Given the description of an element on the screen output the (x, y) to click on. 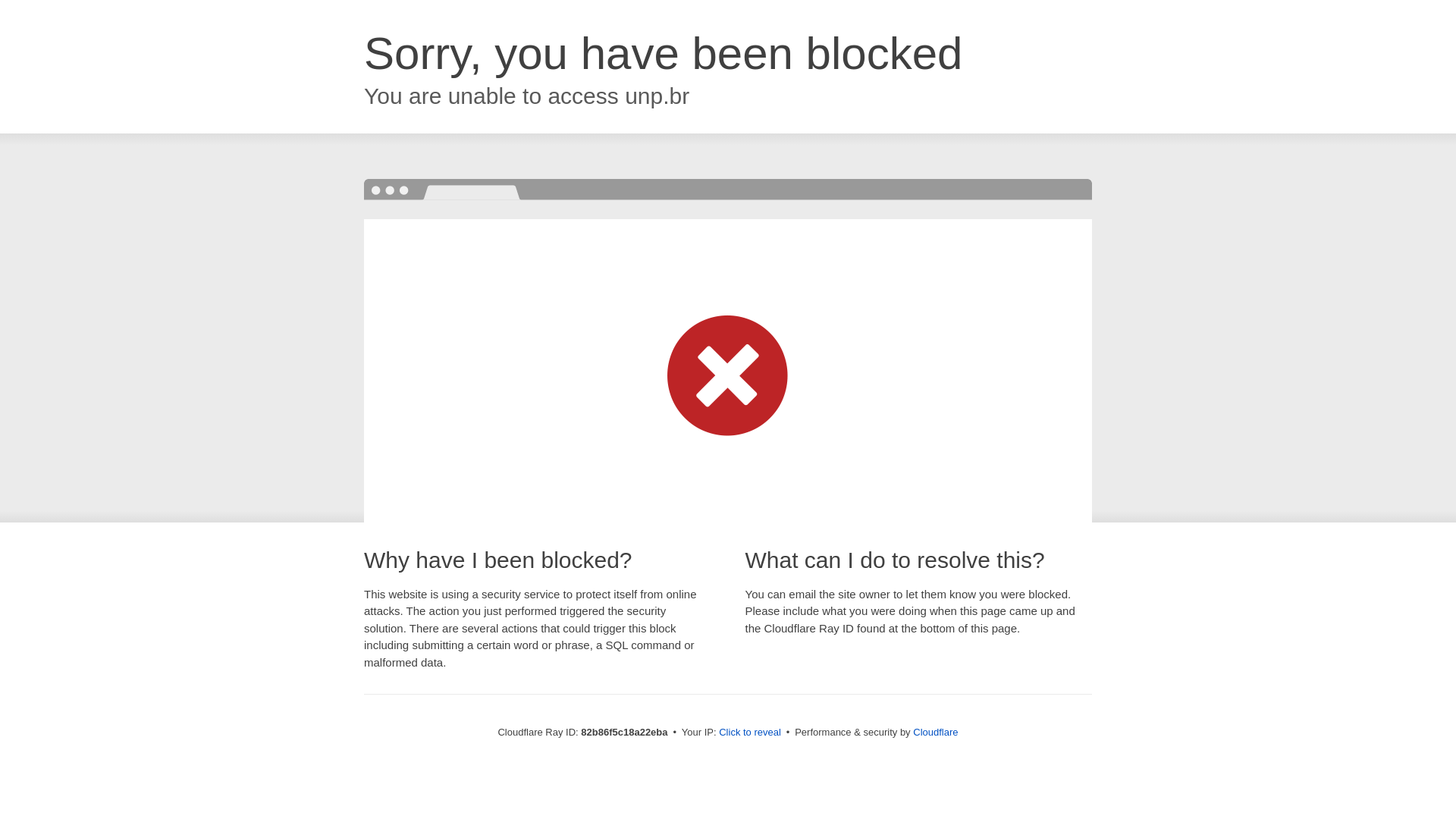
Cloudflare Element type: text (935, 731)
Click to reveal Element type: text (749, 732)
